Given the description of an element on the screen output the (x, y) to click on. 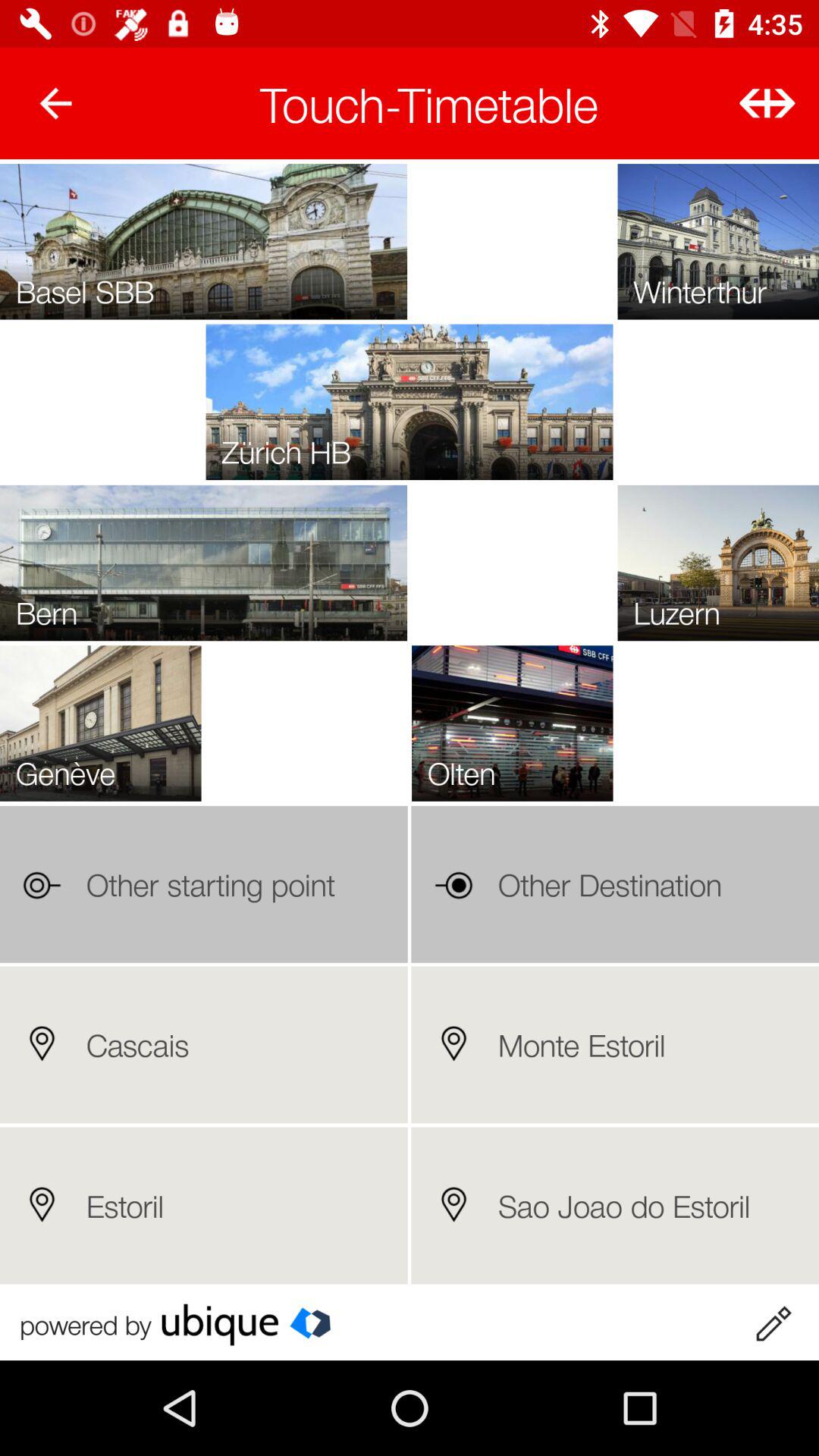
return to home page (55, 103)
